Given the description of an element on the screen output the (x, y) to click on. 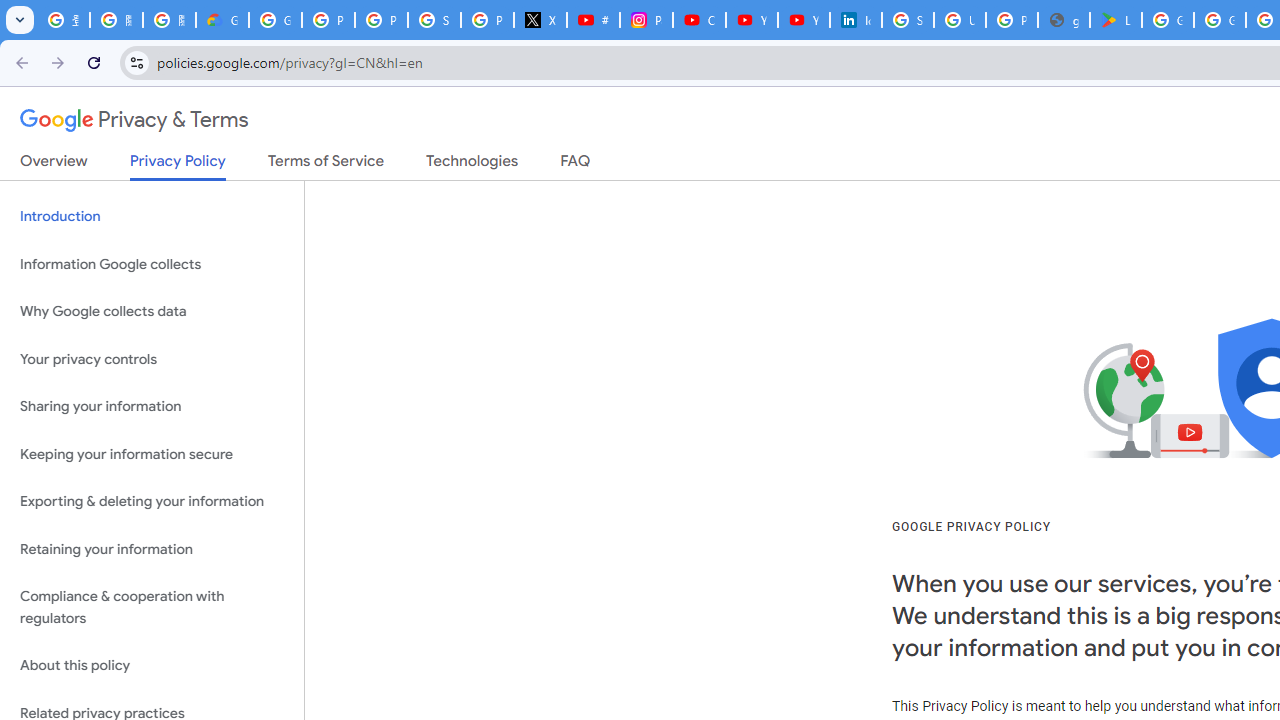
#nbabasketballhighlights - YouTube (593, 20)
YouTube Culture & Trends - YouTube Top 10, 2021 (803, 20)
Privacy Help Center - Policies Help (381, 20)
